Given the description of an element on the screen output the (x, y) to click on. 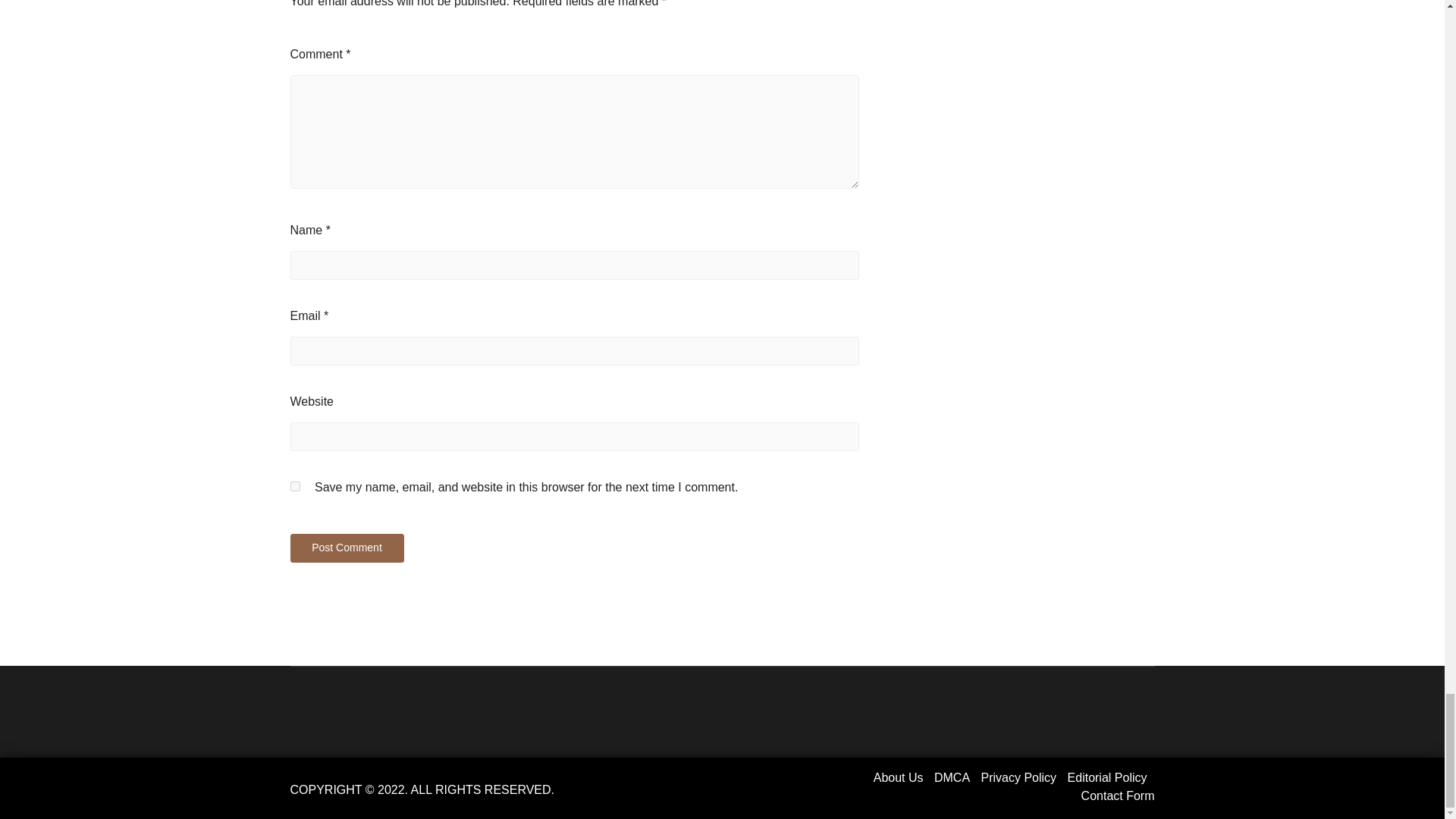
yes (294, 486)
Post Comment (346, 547)
Post Comment (346, 547)
